Given the description of an element on the screen output the (x, y) to click on. 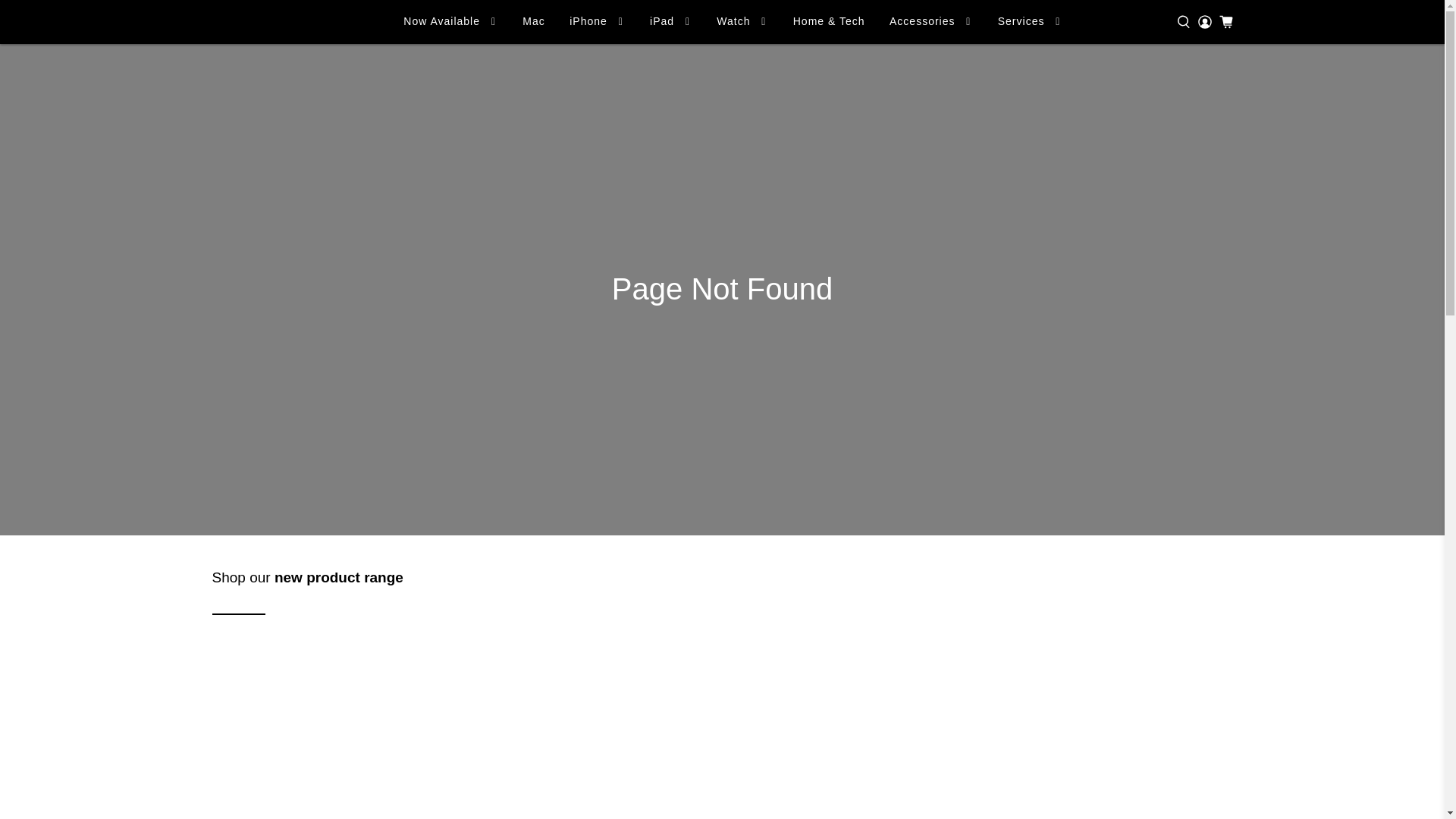
Accessories (930, 21)
Watch (741, 21)
iPad (671, 21)
iPhone (596, 21)
Now Available (450, 21)
iStore Namibia (253, 21)
Mac (533, 21)
